Given the description of an element on the screen output the (x, y) to click on. 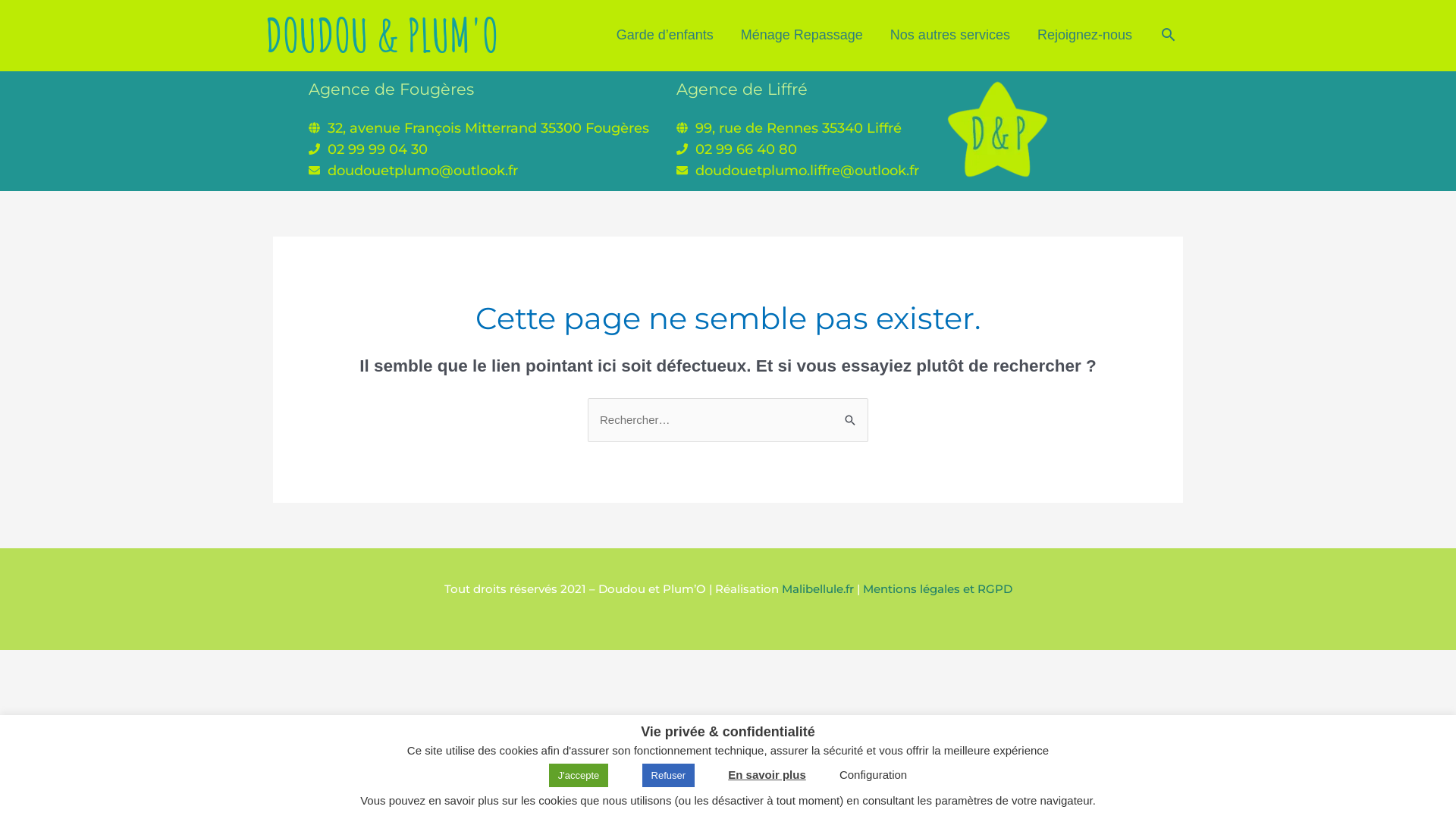
Rechercher Element type: text (1167, 34)
DOUDOU & PLUM'O Element type: text (381, 34)
02 99 66 40 80 Element type: text (746, 149)
Malibellule.fr Element type: text (817, 588)
J'accepte Element type: text (578, 775)
doudouetplumo.liffre@outlook.fr Element type: text (807, 170)
doudouetplumo@outlook.fr Element type: text (422, 170)
Configuration Element type: text (872, 774)
Refuser Element type: text (668, 775)
Nos autres services Element type: text (949, 34)
02 99 99 04 30 Element type: text (377, 149)
Rechercher Element type: text (851, 413)
En savoir plus Element type: text (767, 774)
Rejoignez-nous Element type: text (1084, 34)
